Given the description of an element on the screen output the (x, y) to click on. 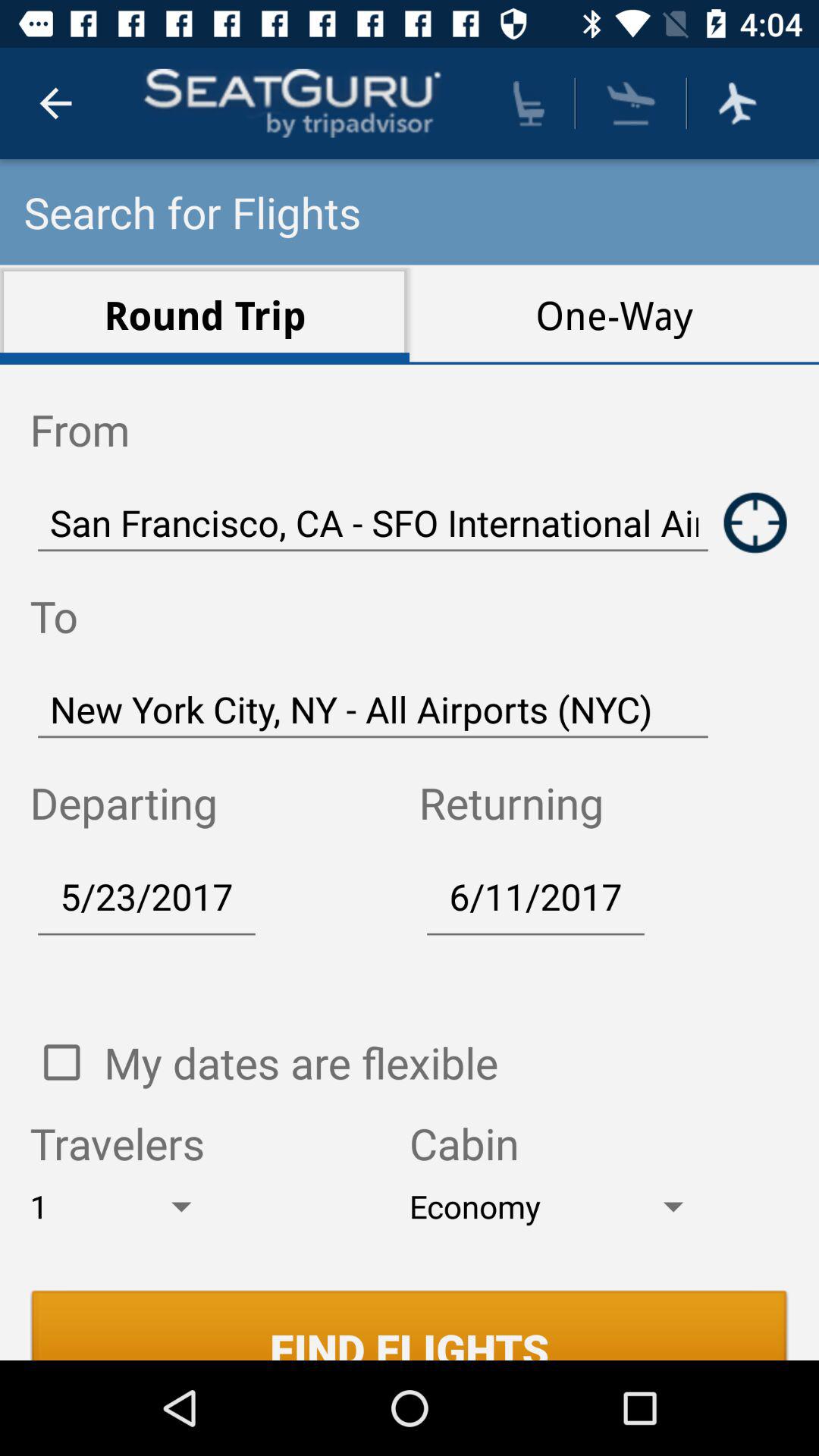
open the icon next to my dates are (61, 1062)
